Given the description of an element on the screen output the (x, y) to click on. 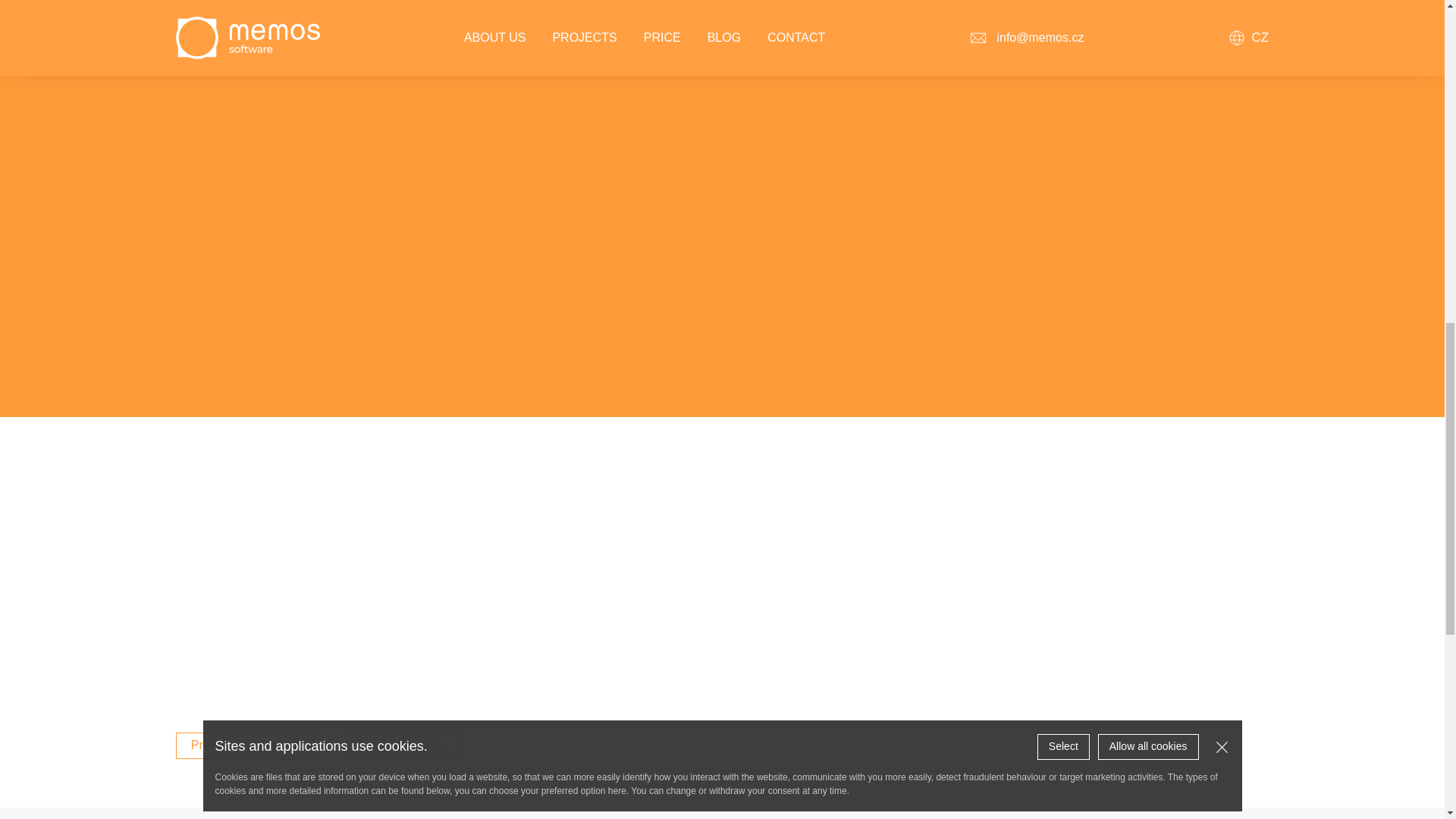
Next case study (403, 745)
Previous case study (245, 745)
